Given the description of an element on the screen output the (x, y) to click on. 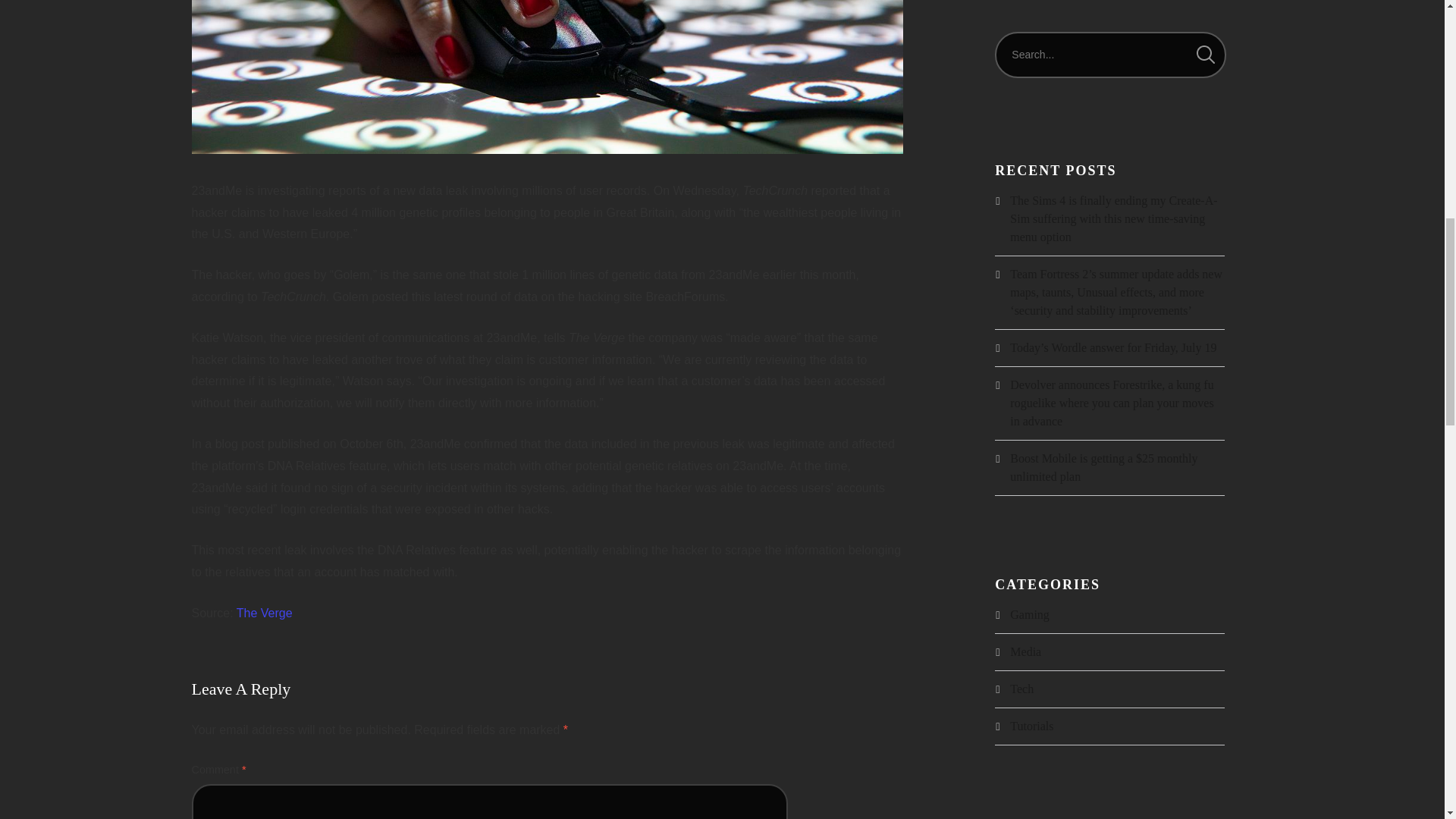
Media (1025, 651)
Tech (1021, 688)
Tutorials (1031, 725)
The Verge (263, 612)
Gaming (1029, 614)
